Given the description of an element on the screen output the (x, y) to click on. 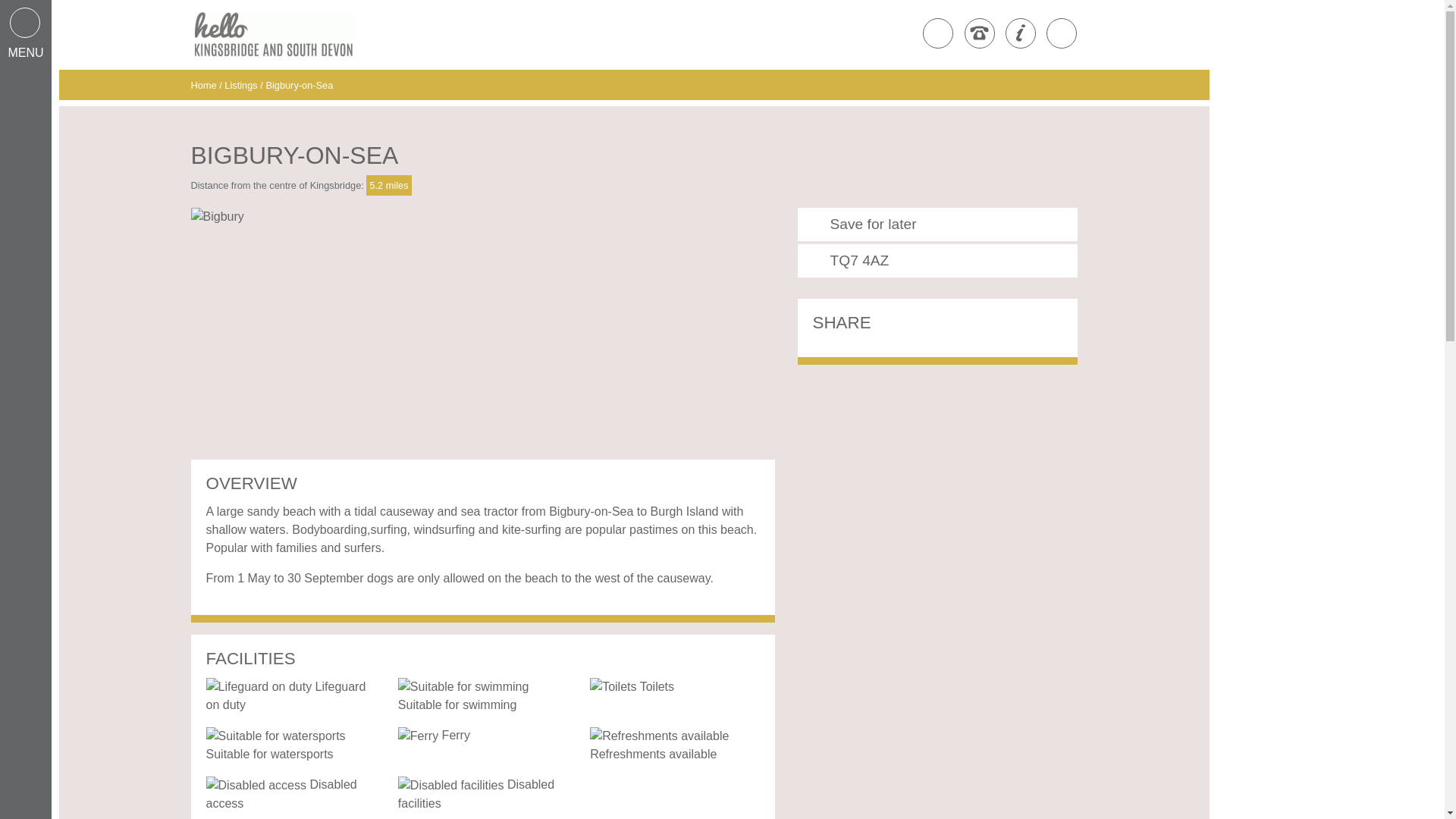
Home (204, 84)
menu (25, 34)
MENU (25, 34)
Listings (240, 84)
Bigbury-on-Sea (298, 84)
